Given the description of an element on the screen output the (x, y) to click on. 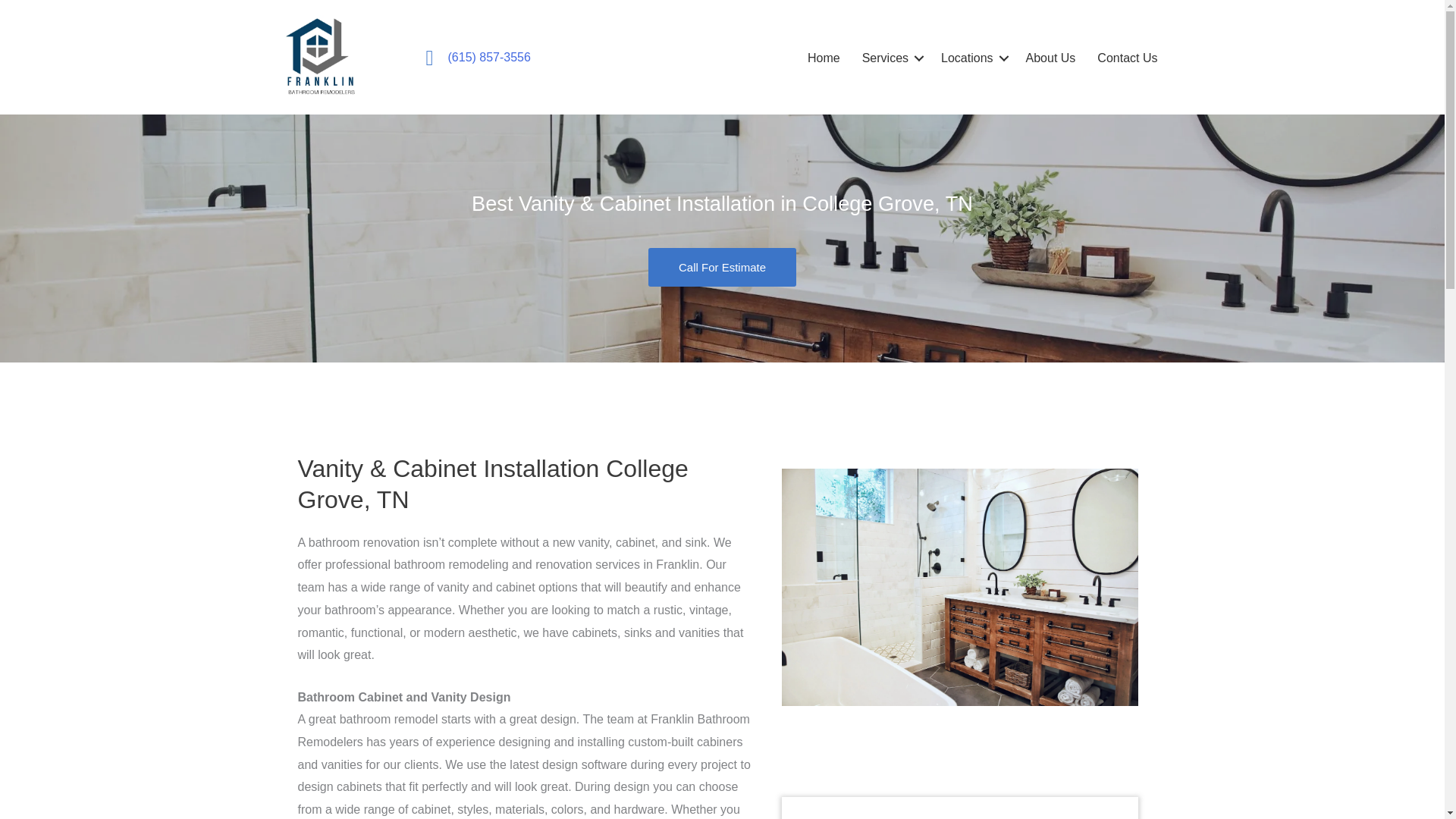
Franklin (320, 57)
Services (890, 58)
bathroom vanity image (958, 586)
About Us (1050, 58)
Call For Estimate (721, 267)
Home (823, 58)
Locations (972, 58)
Contact Us (1126, 58)
